Given the description of an element on the screen output the (x, y) to click on. 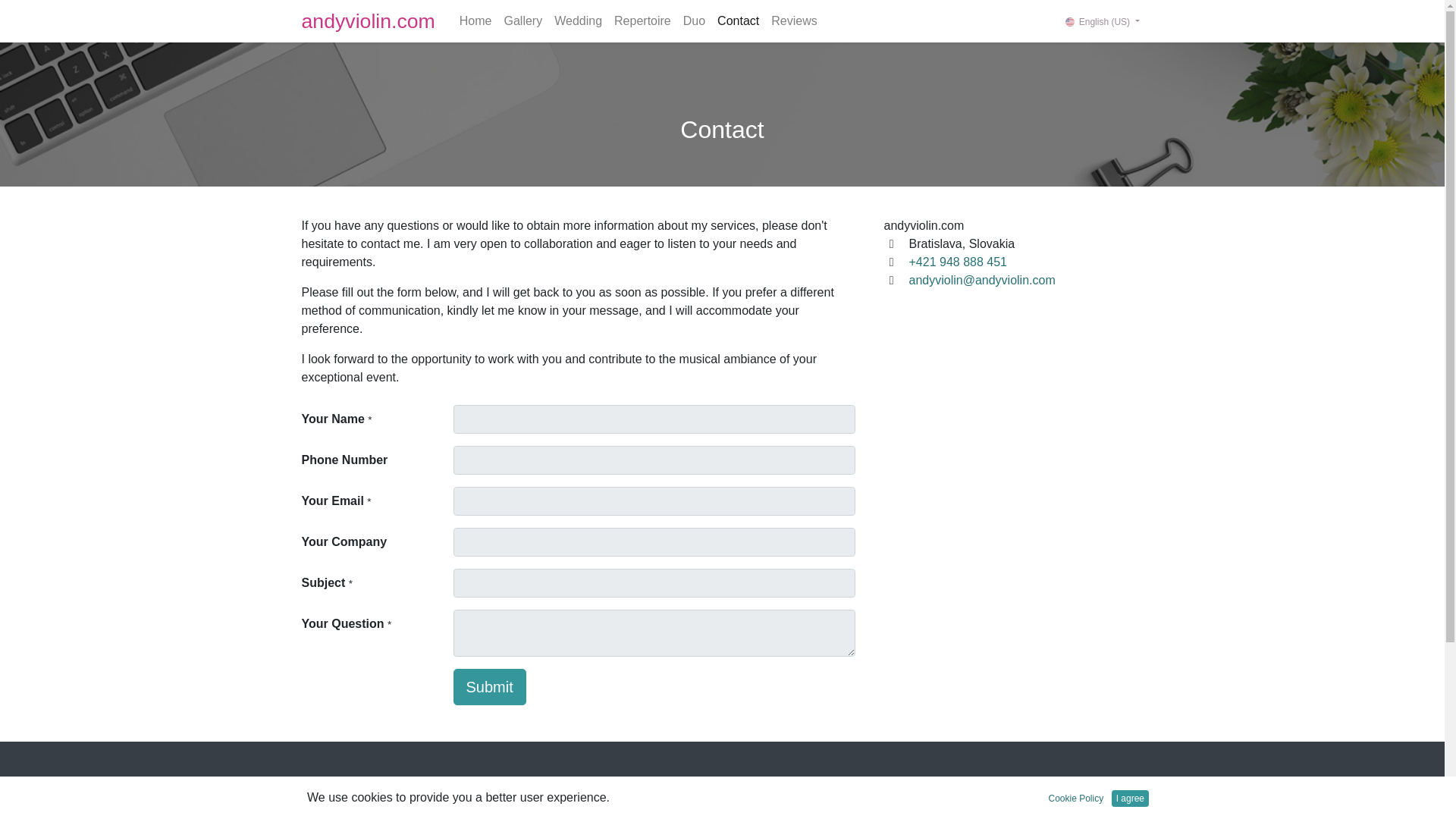
Repertoire (642, 20)
Submit (488, 687)
Reviews (793, 20)
Home (474, 20)
andyviolin.com (368, 20)
Contact (738, 20)
Wedding (578, 20)
I agree (1130, 798)
Duo (694, 20)
Gallery (522, 20)
